Given the description of an element on the screen output the (x, y) to click on. 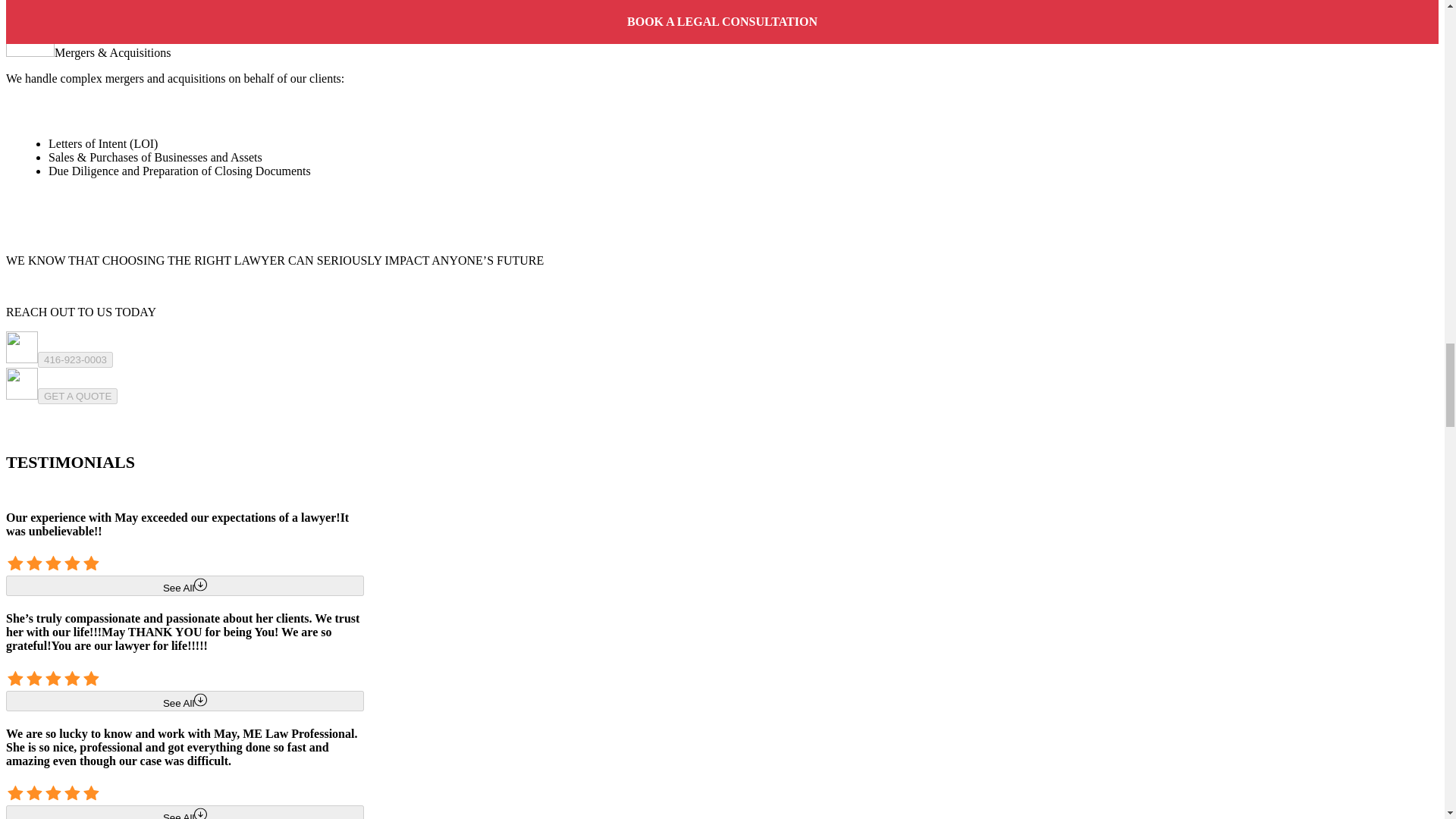
GET A QUOTE (77, 396)
See All (184, 701)
416-923-0003 (75, 359)
See All (184, 812)
416-923-0003 (75, 358)
See All (184, 585)
